Given the description of an element on the screen output the (x, y) to click on. 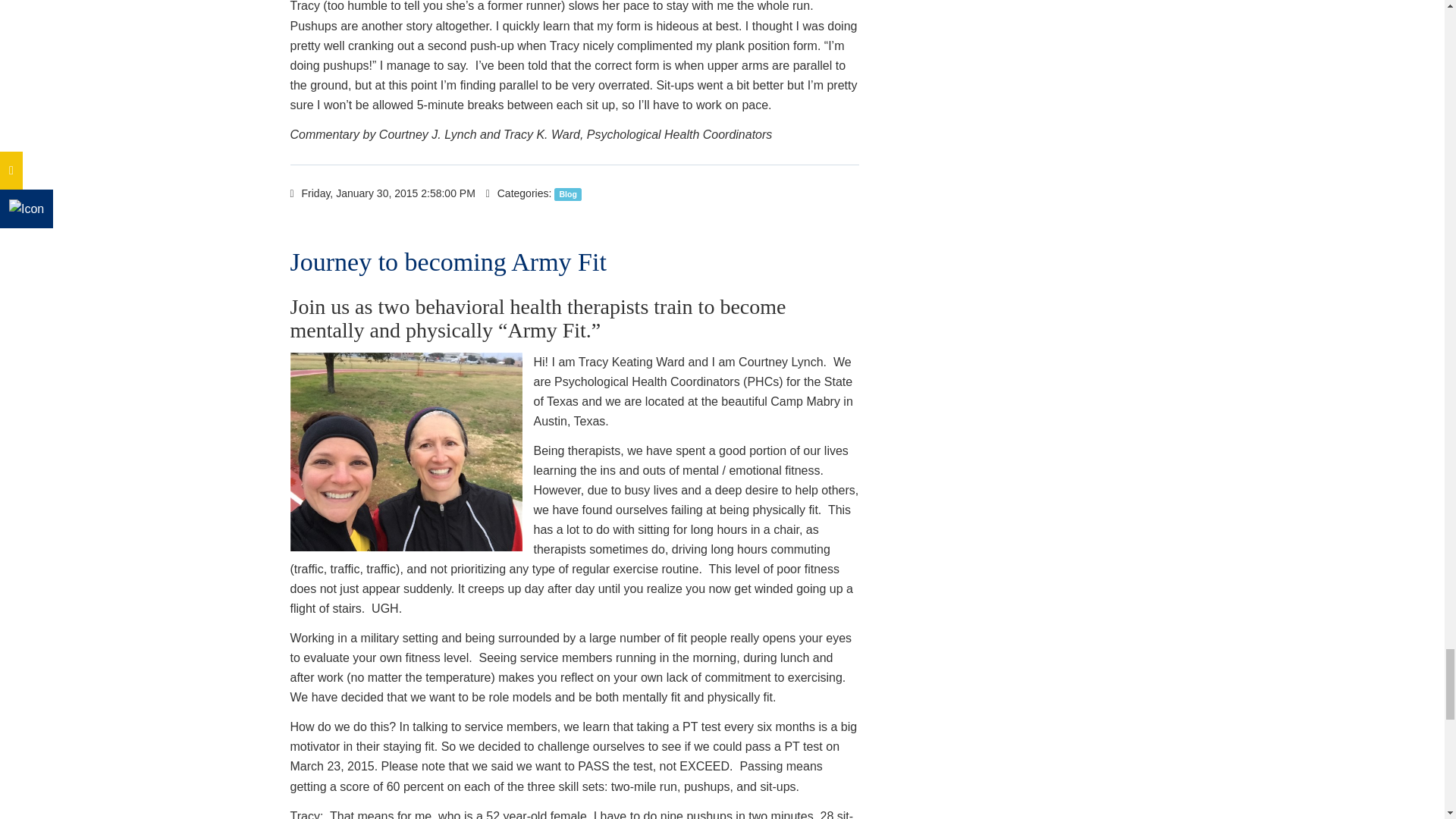
Journey to becoming Army Fit (447, 262)
Blog (567, 194)
